Given the description of an element on the screen output the (x, y) to click on. 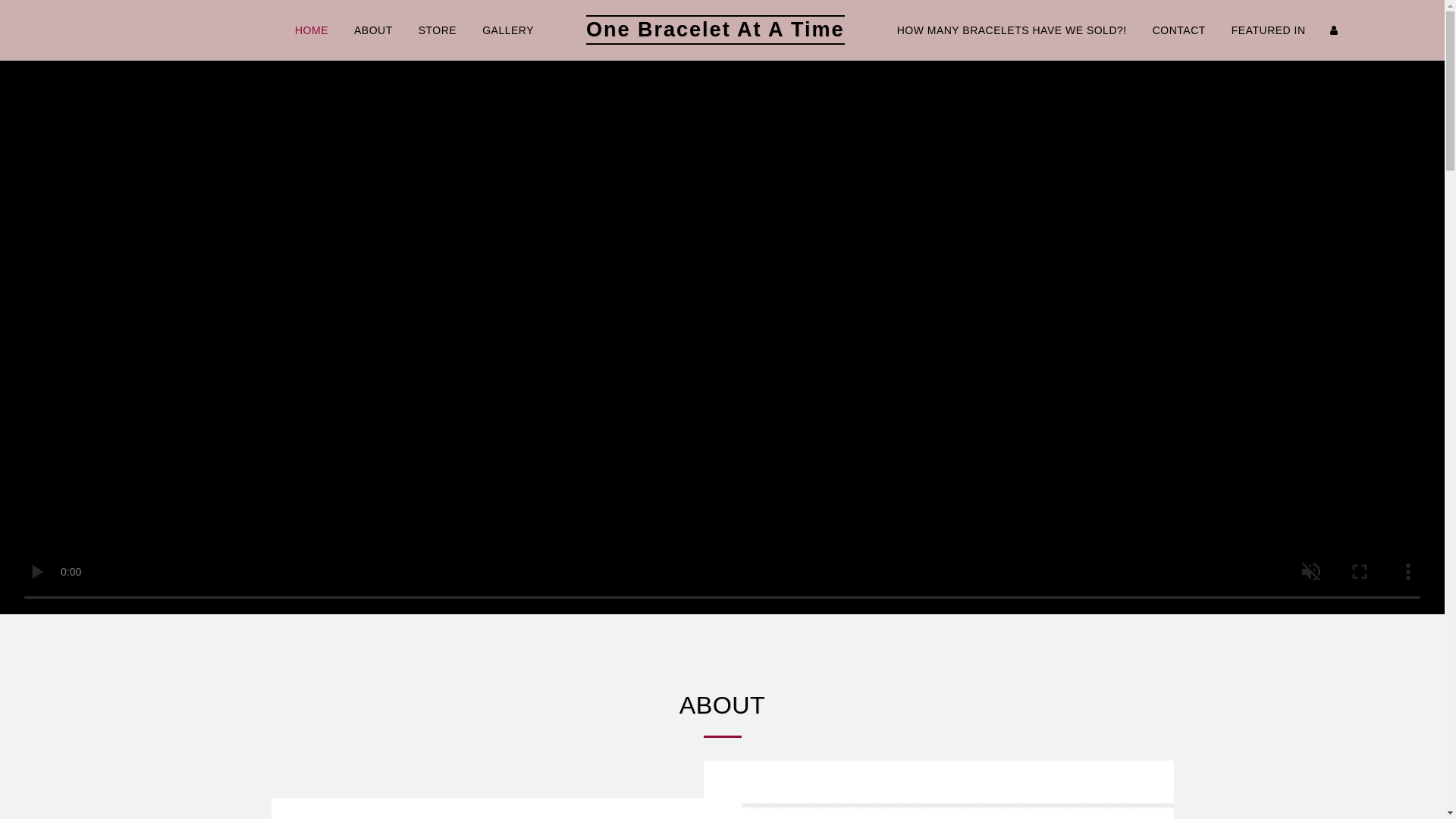
FEATURED IN  (1270, 29)
CONTACT (1179, 29)
ABOUT (373, 29)
HOME (311, 29)
STORE (437, 29)
HOME (311, 29)
HOW MANY BRACELETS HAVE WE SOLD?! (1011, 29)
One Bracelet At A Time (715, 30)
GALLERY (507, 29)
CONTACT (1179, 29)
ABOUT (373, 29)
HOW MANY BRACELETS HAVE WE SOLD?! (1011, 29)
GALLERY (507, 29)
One Bracelet At A Time (715, 30)
